Given the description of an element on the screen output the (x, y) to click on. 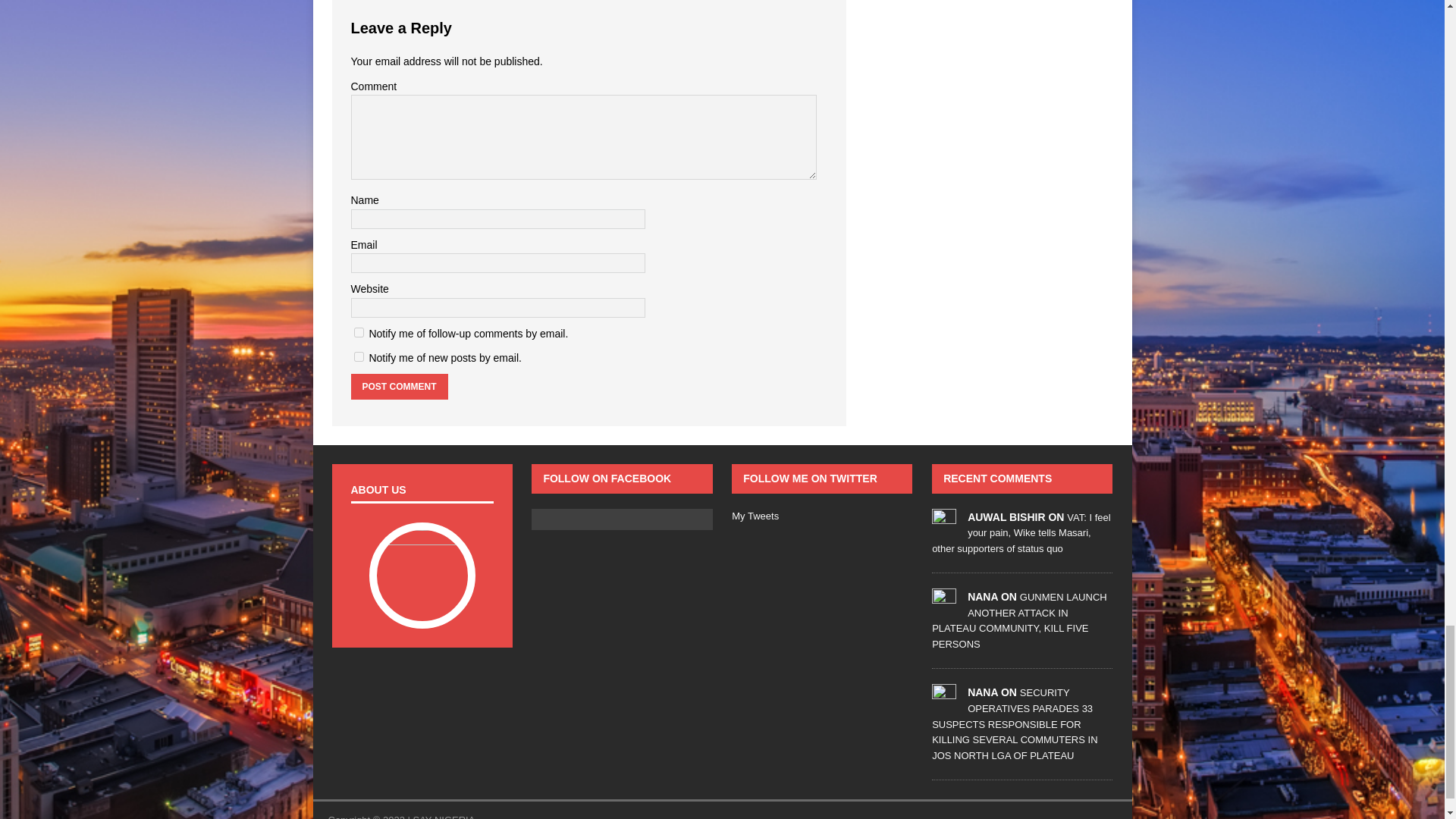
subscribe (357, 356)
subscribe (357, 332)
Post Comment (398, 386)
